Given the description of an element on the screen output the (x, y) to click on. 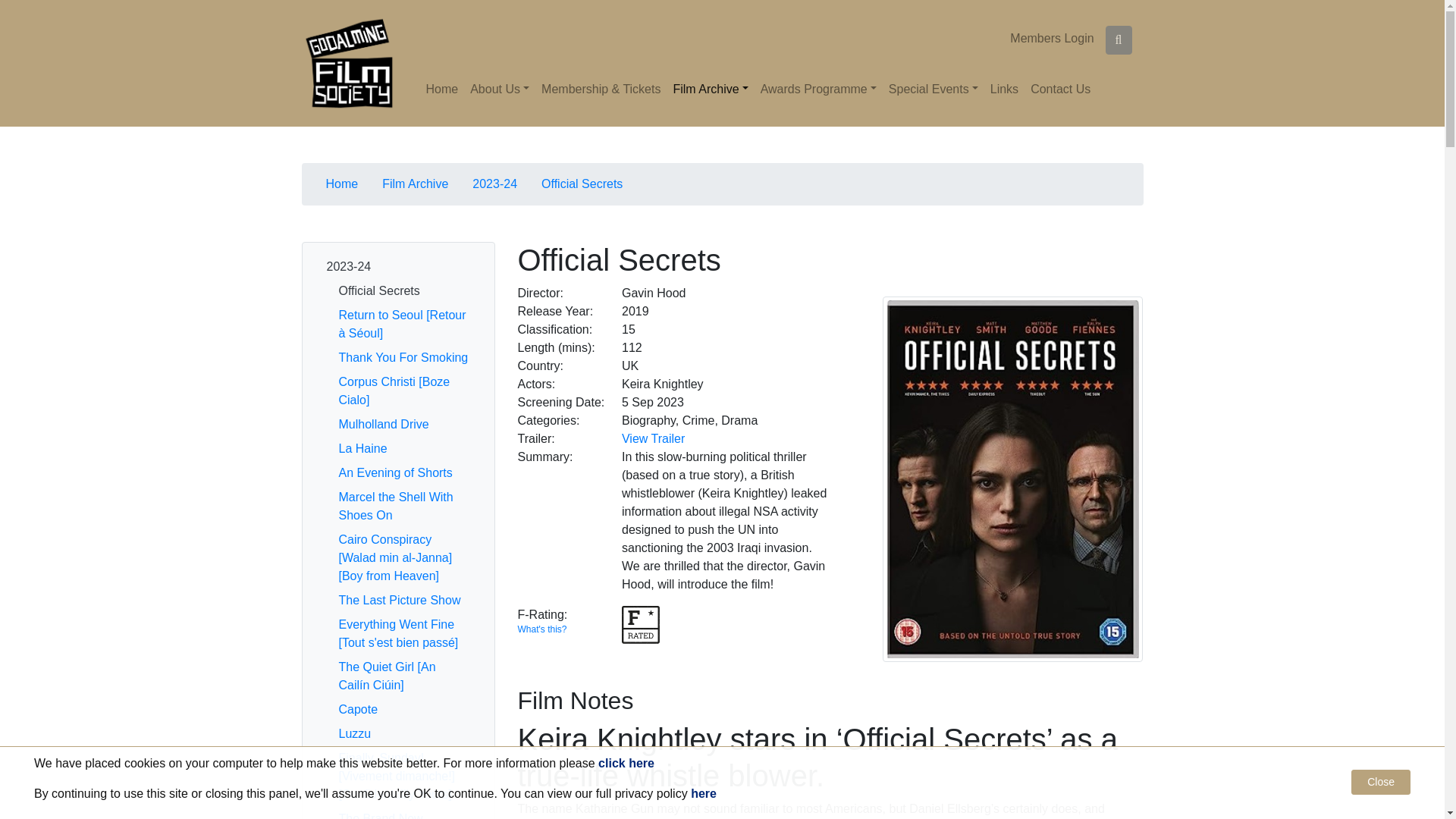
Awards Programme (818, 88)
Search (1118, 39)
Home (442, 88)
About Us (499, 88)
Members Login (1051, 36)
Film Archive (710, 88)
Official Secrets (1012, 477)
